Given the description of an element on the screen output the (x, y) to click on. 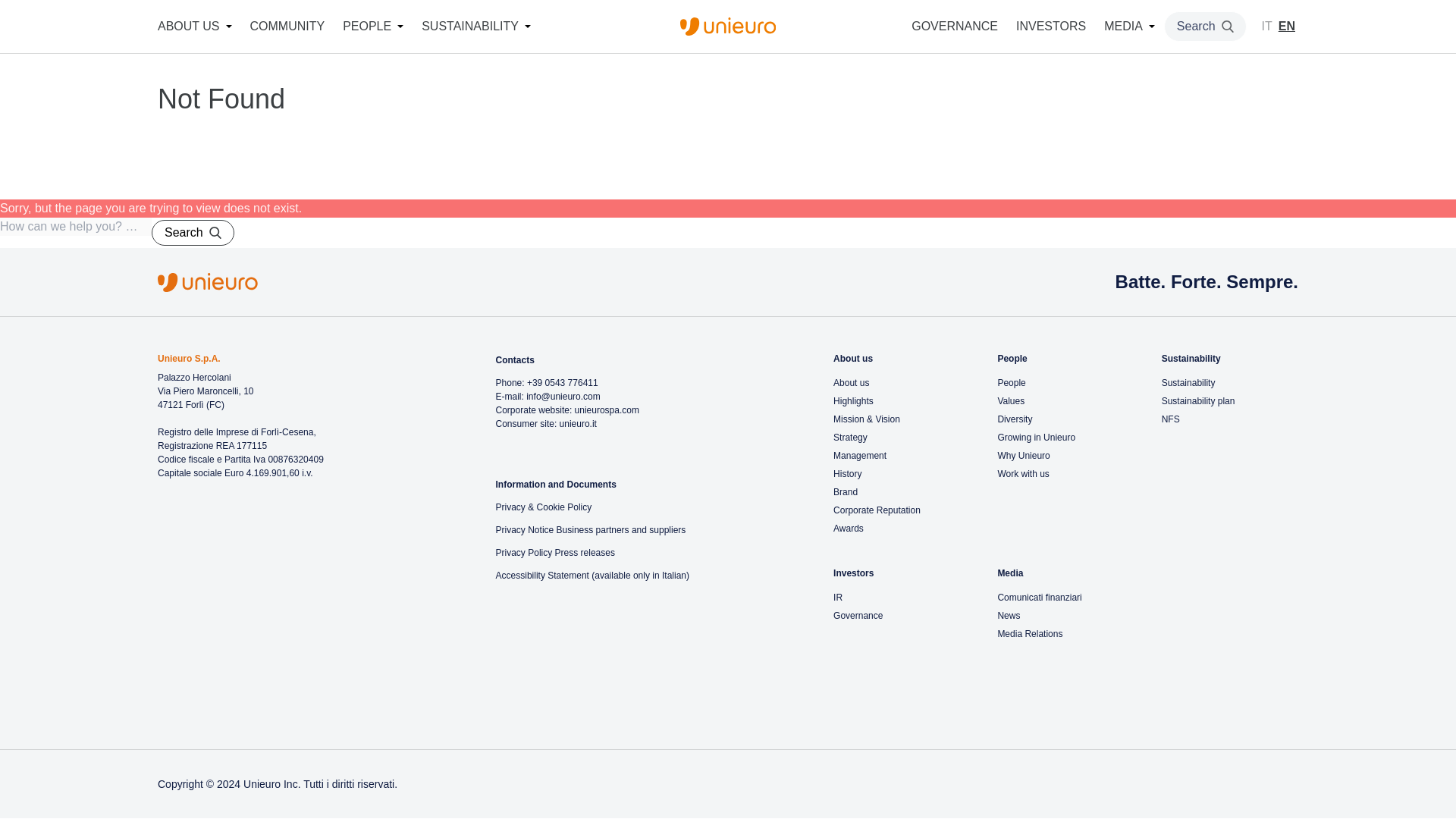
Privacy Notice Business partners and suppliers (590, 529)
GOVERNANCE (954, 26)
COMMUNITY (287, 26)
INVESTORS (1051, 26)
ABOUT US (188, 26)
Search (1204, 26)
SUSTAINABILITY (470, 26)
Search (192, 232)
Policy (577, 507)
Cookie (550, 507)
